Given the description of an element on the screen output the (x, y) to click on. 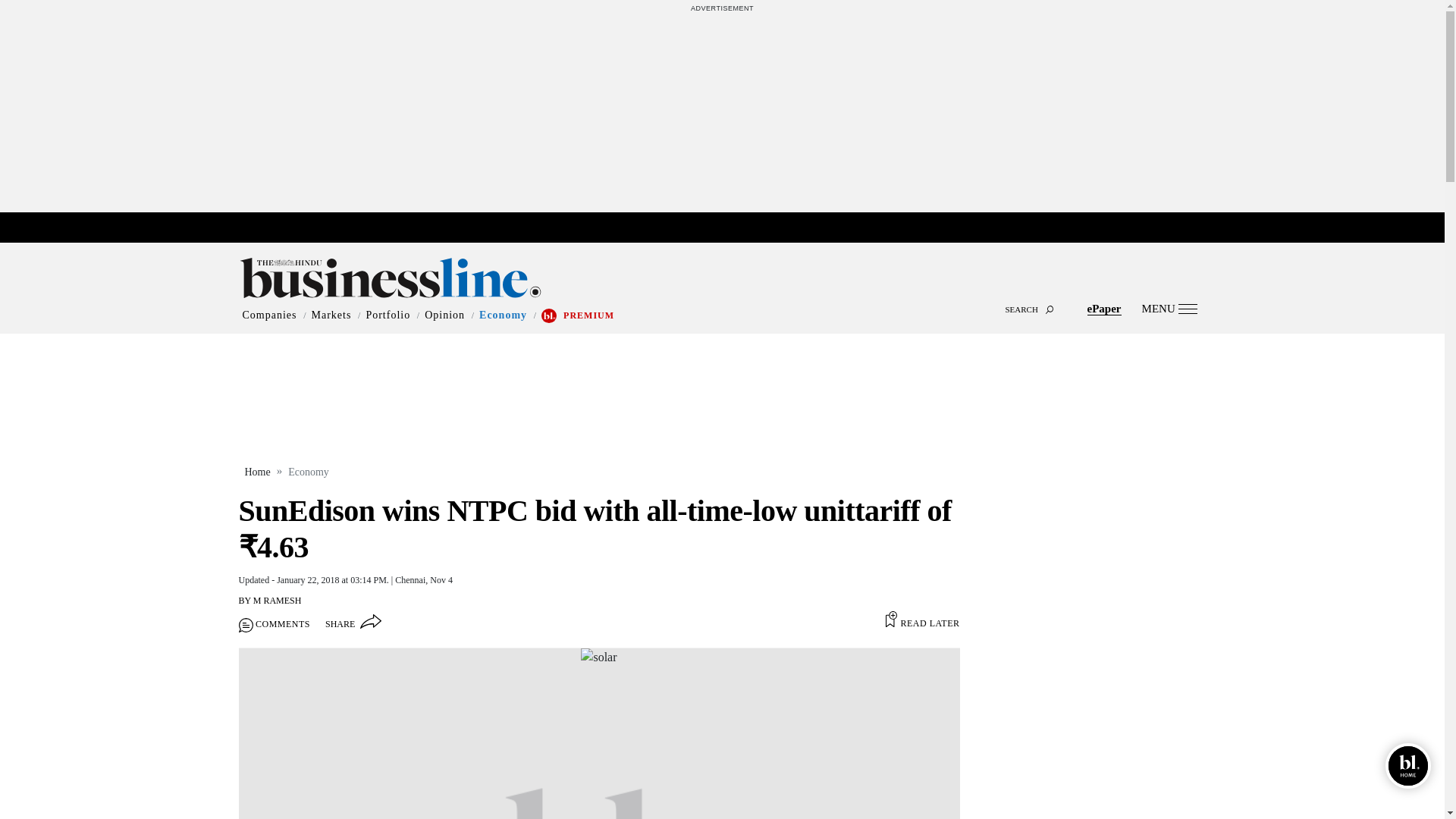
MENU (1168, 308)
Companies (270, 315)
SEARCH (721, 295)
Economy (503, 315)
PREMIUM (588, 315)
Opinion (444, 315)
Markets (330, 315)
marketupdate (729, 228)
ePaper (1104, 308)
Portfolio (387, 315)
